Given the description of an element on the screen output the (x, y) to click on. 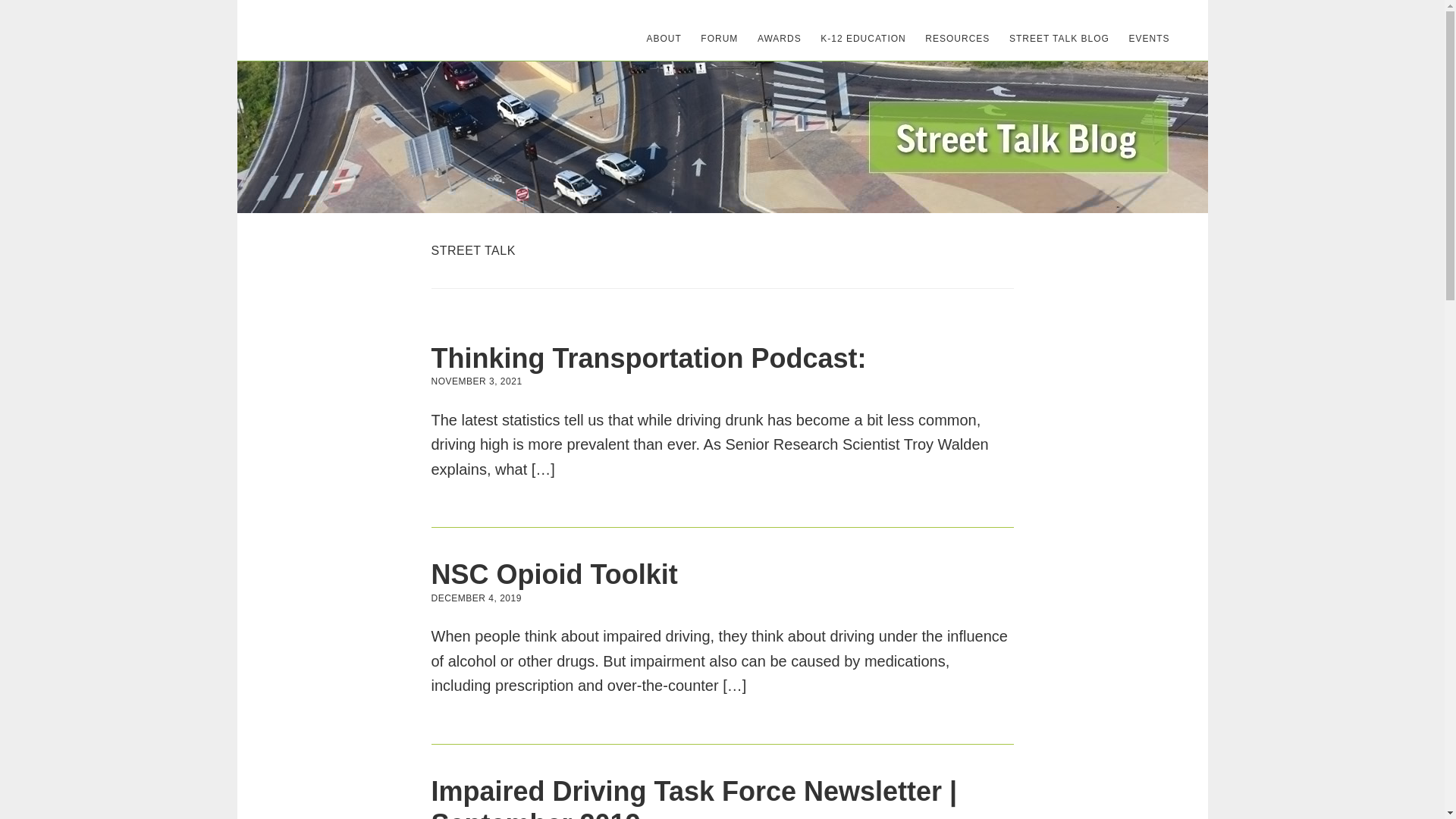
RESOURCES (957, 38)
FORUM (719, 38)
STREET TALK BLOG (1058, 38)
NSC Opioid Toolkit (553, 573)
TEXAS IMPAIRED DRIVING TASK FORCE (346, 30)
K-12 EDUCATION (862, 38)
AWARDS (779, 38)
ABOUT (663, 38)
EVENTS (1148, 38)
